Given the description of an element on the screen output the (x, y) to click on. 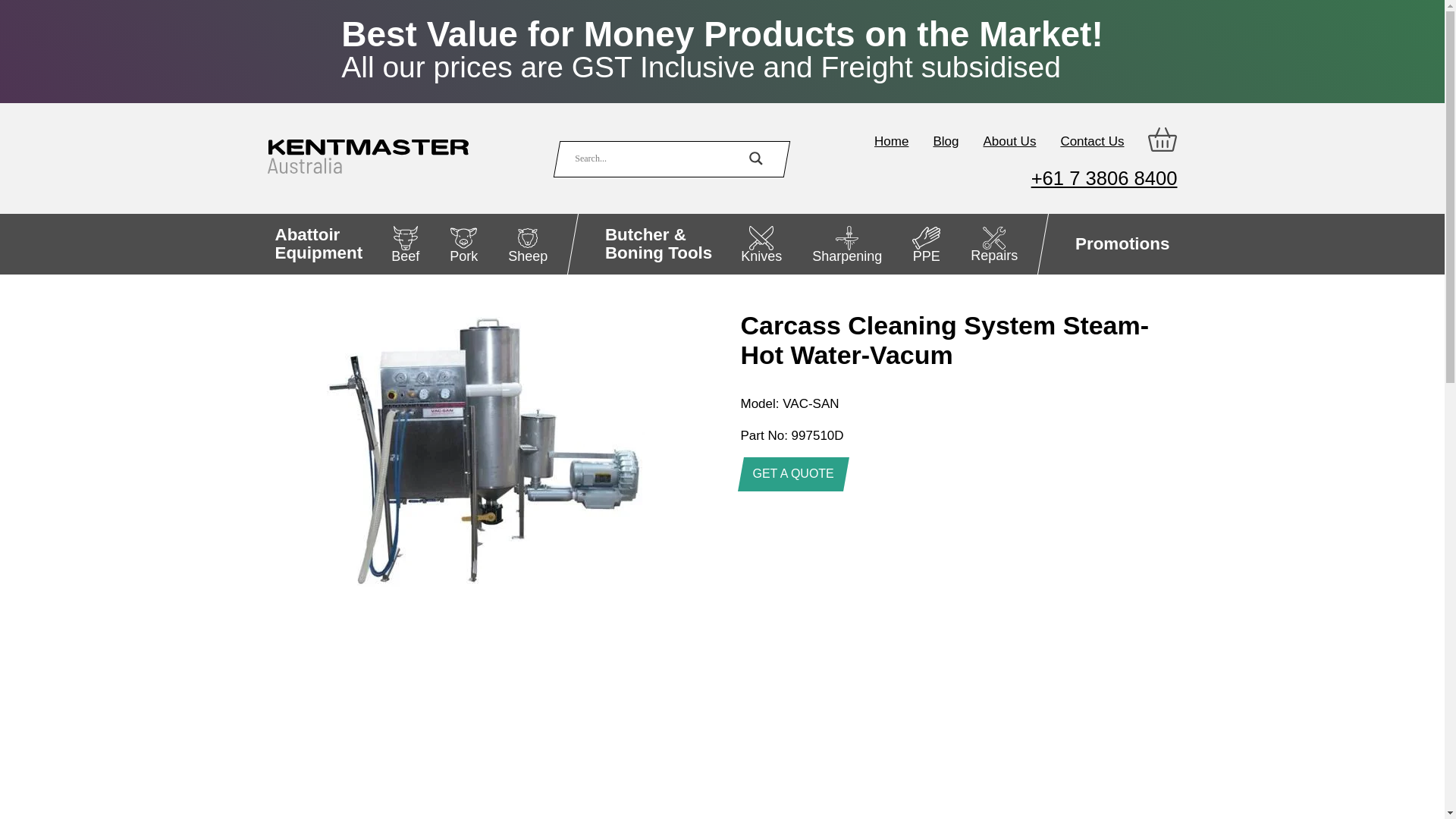
Abattoir Equipment (317, 243)
Send (958, 810)
Home (891, 141)
About Us (1008, 141)
Gift Ideas for Butcher (1121, 243)
Tools for Sheep production (527, 243)
Knives (761, 243)
Call Us (1103, 178)
Sheep (527, 243)
Repairs (993, 243)
Promotions (1121, 243)
GET A QUOTE (792, 474)
Sharpening tools (317, 243)
